Given the description of an element on the screen output the (x, y) to click on. 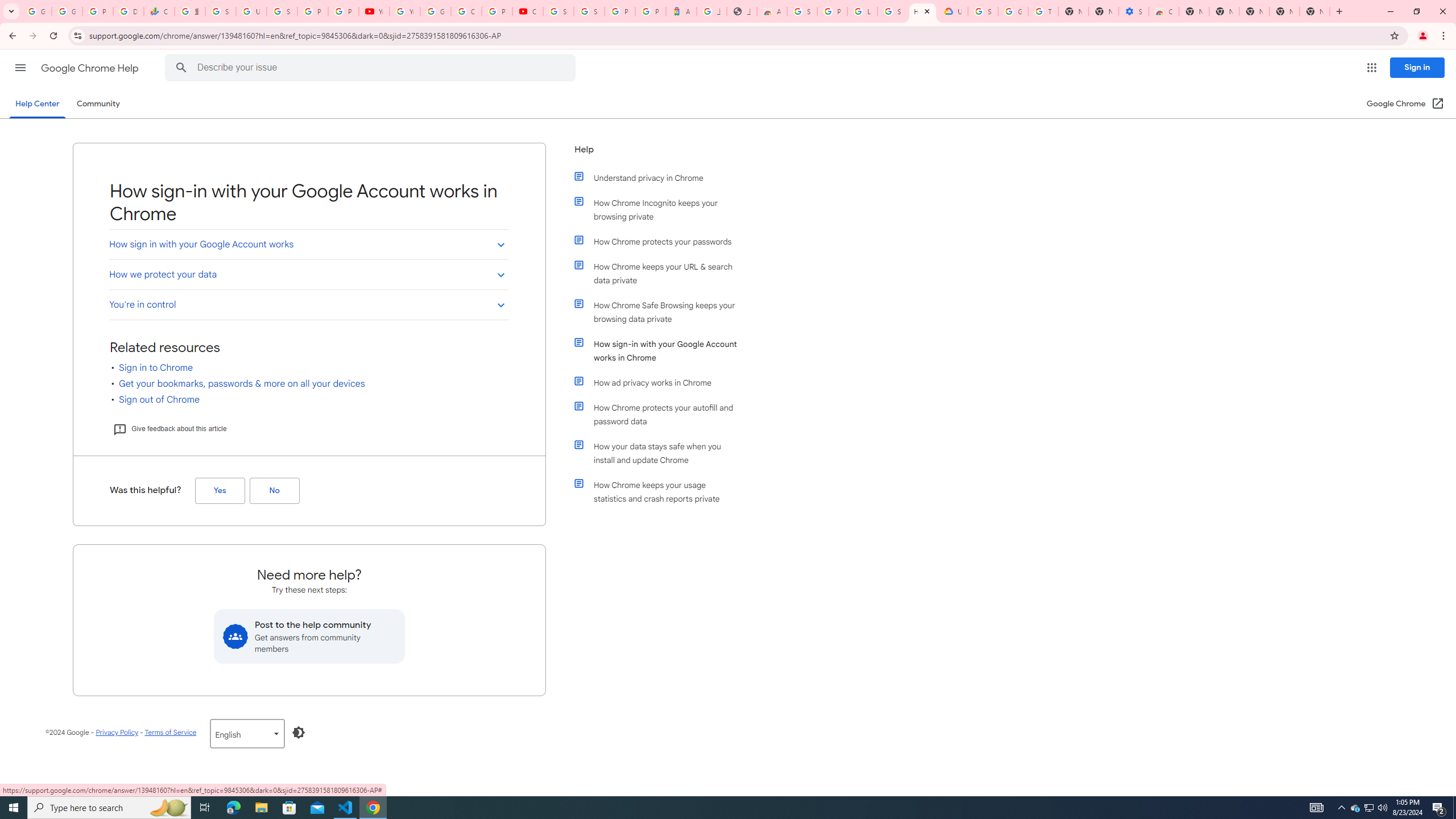
Google Account Help (434, 11)
Content Creator Programs & Opportunities - YouTube Creators (527, 11)
YouTube (373, 11)
New Tab (1193, 11)
Currencies - Google Finance (158, 11)
Sign in - Google Accounts (220, 11)
Enable Dark Mode (299, 732)
Privacy Checkup (343, 11)
How ad privacy works in Chrome (661, 382)
